Given the description of an element on the screen output the (x, y) to click on. 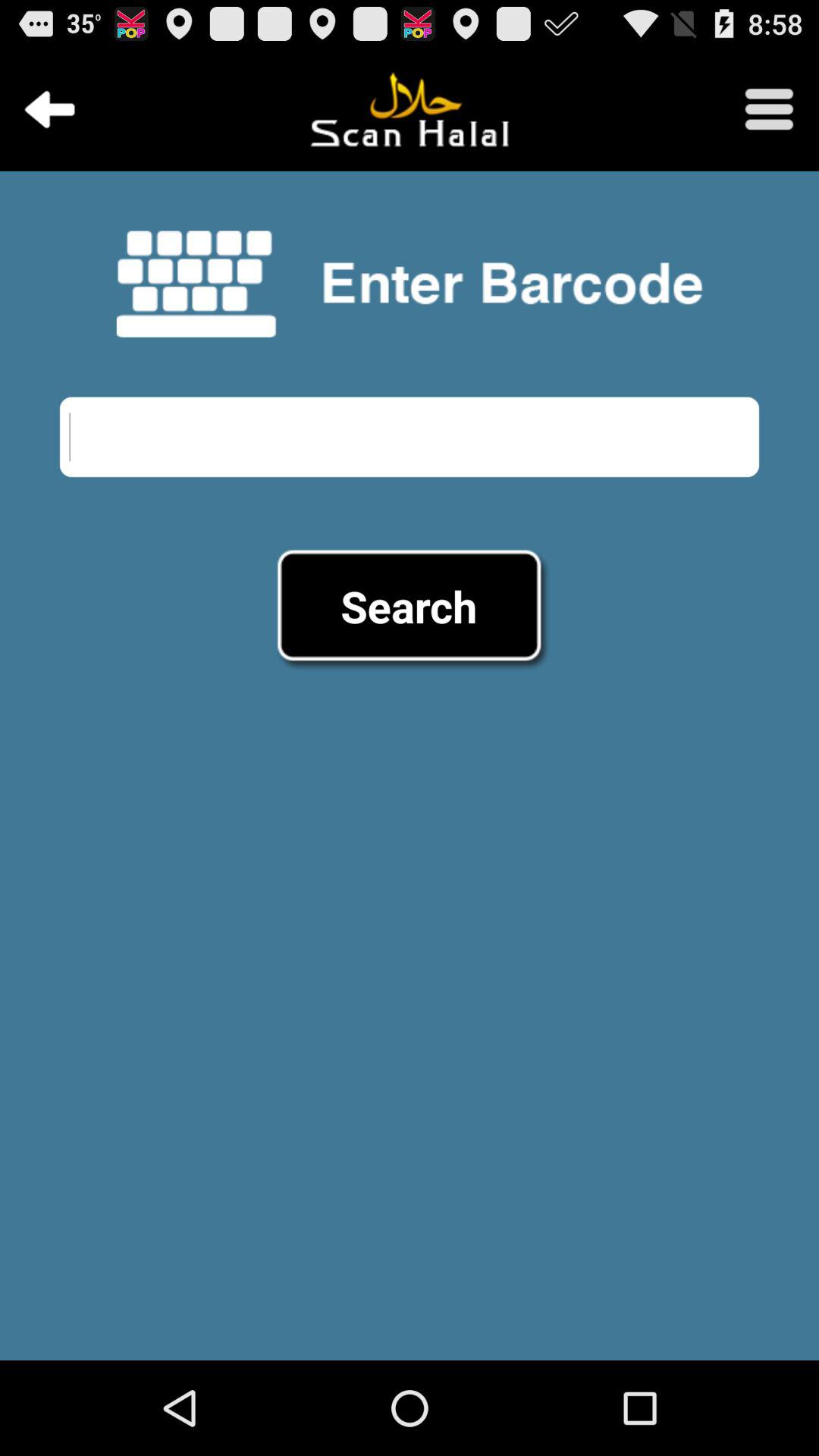
tap the search item (408, 605)
